Given the description of an element on the screen output the (x, y) to click on. 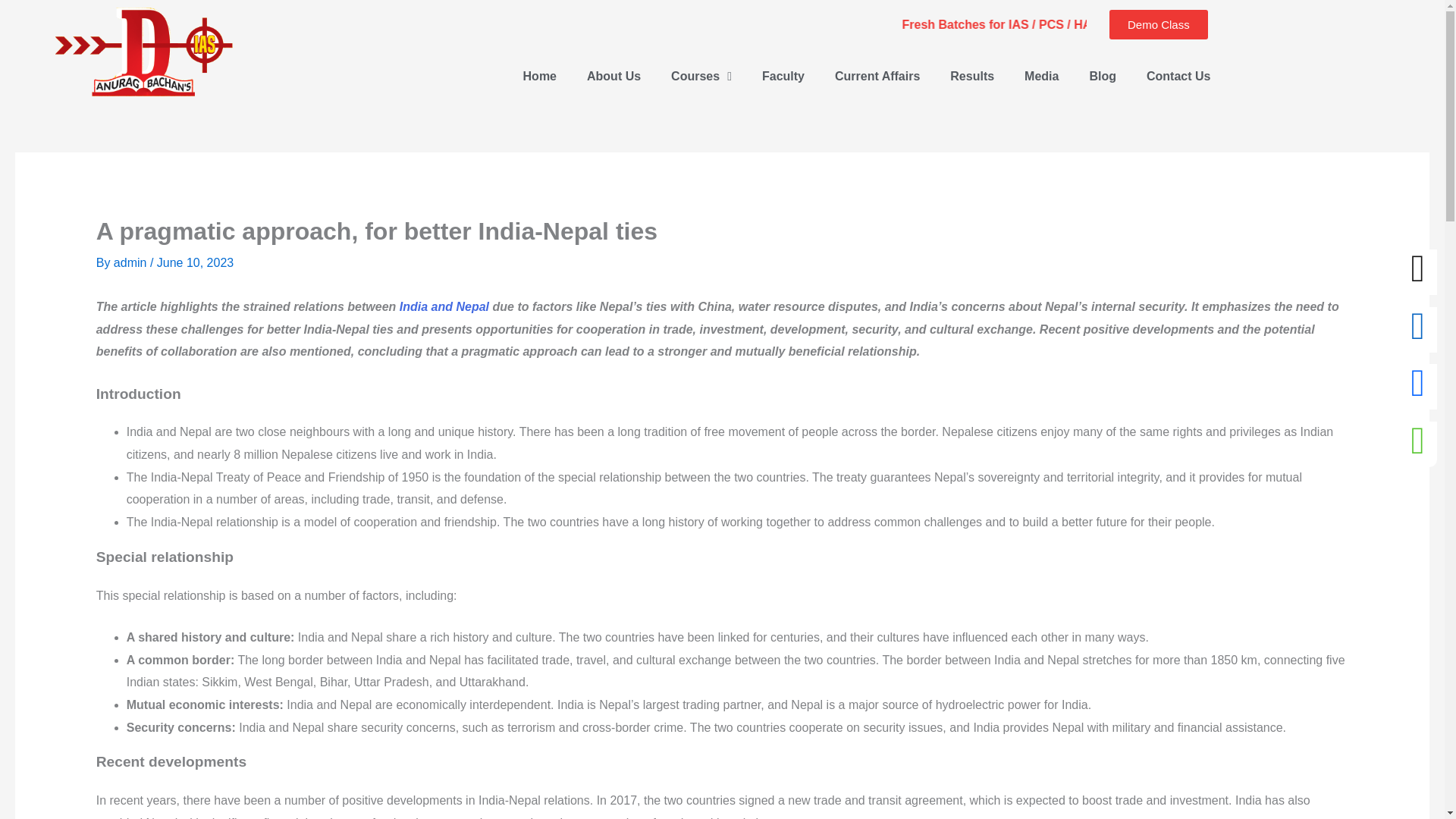
Blog (1102, 76)
Faculty (782, 76)
Home (540, 76)
Results (971, 76)
Current Affairs (876, 76)
Courses (701, 76)
Contact Us (1178, 76)
View all posts by admin (131, 262)
Media (1041, 76)
About Us (614, 76)
Demo Class (1158, 24)
